Given the description of an element on the screen output the (x, y) to click on. 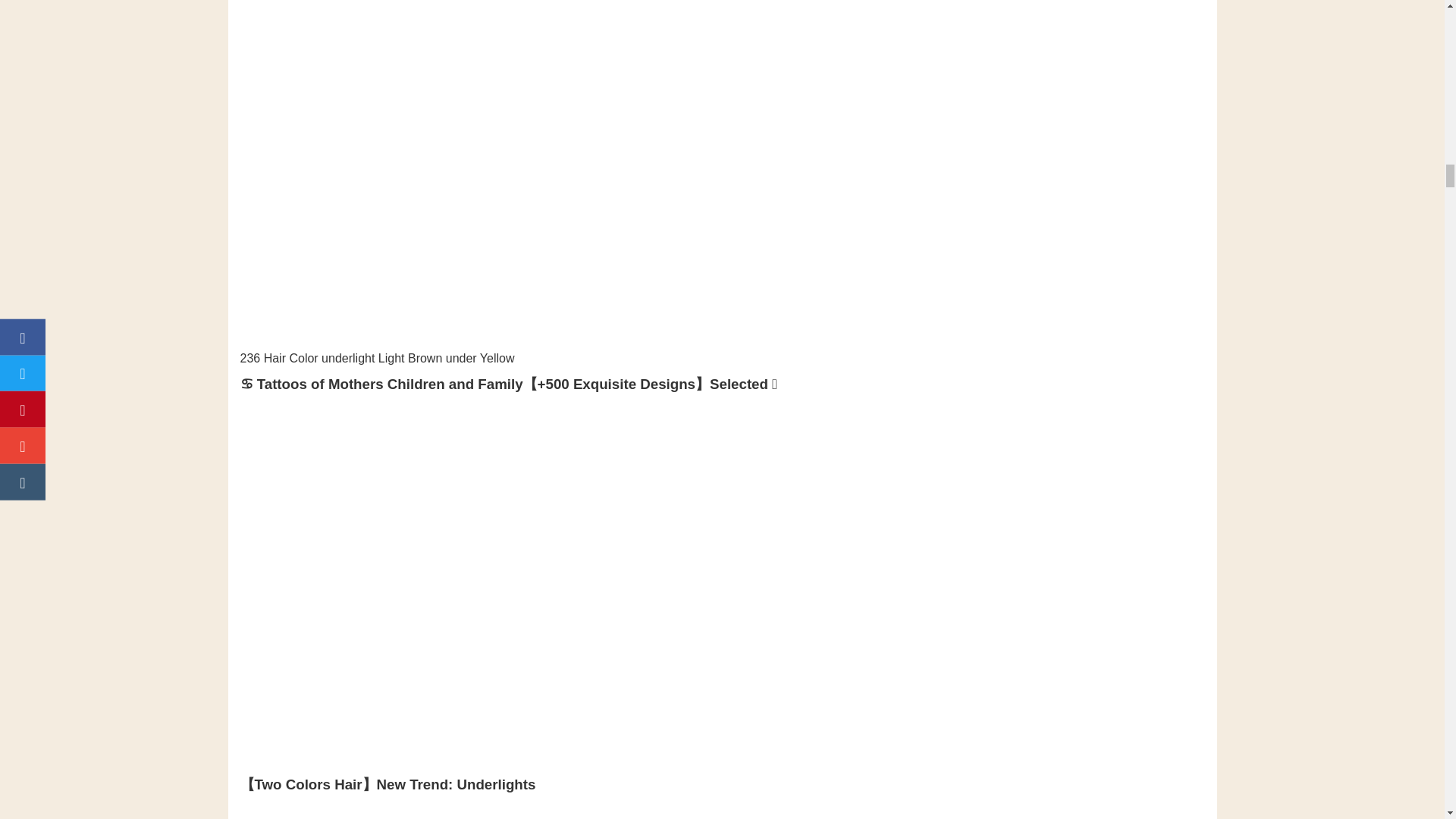
Two Color Hair Collage Underlights (618, 807)
